Given the description of an element on the screen output the (x, y) to click on. 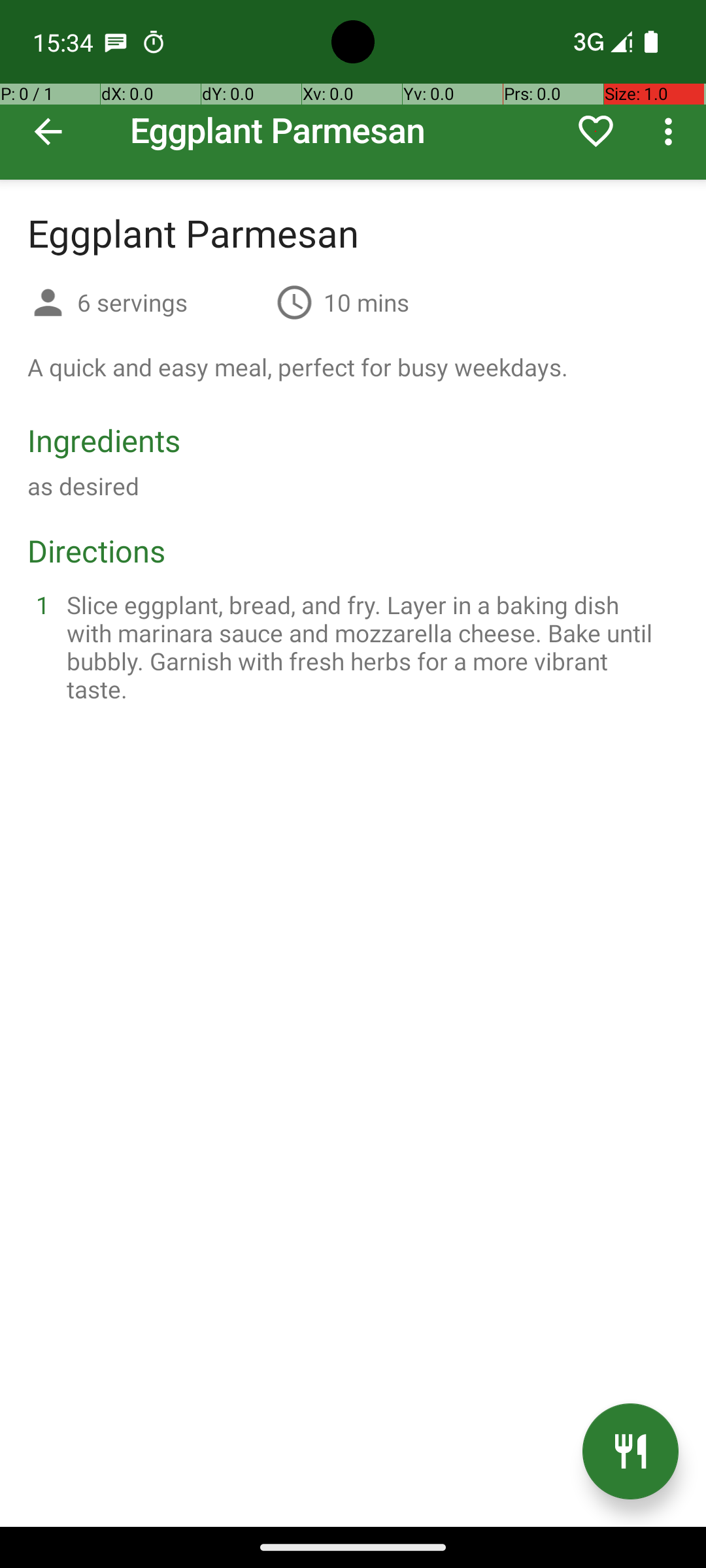
Slice eggplant, bread, and fry. Layer in a baking dish with marinara sauce and mozzarella cheese. Bake until bubbly. Garnish with fresh herbs for a more vibrant taste. Element type: android.widget.TextView (368, 646)
